Given the description of an element on the screen output the (x, y) to click on. 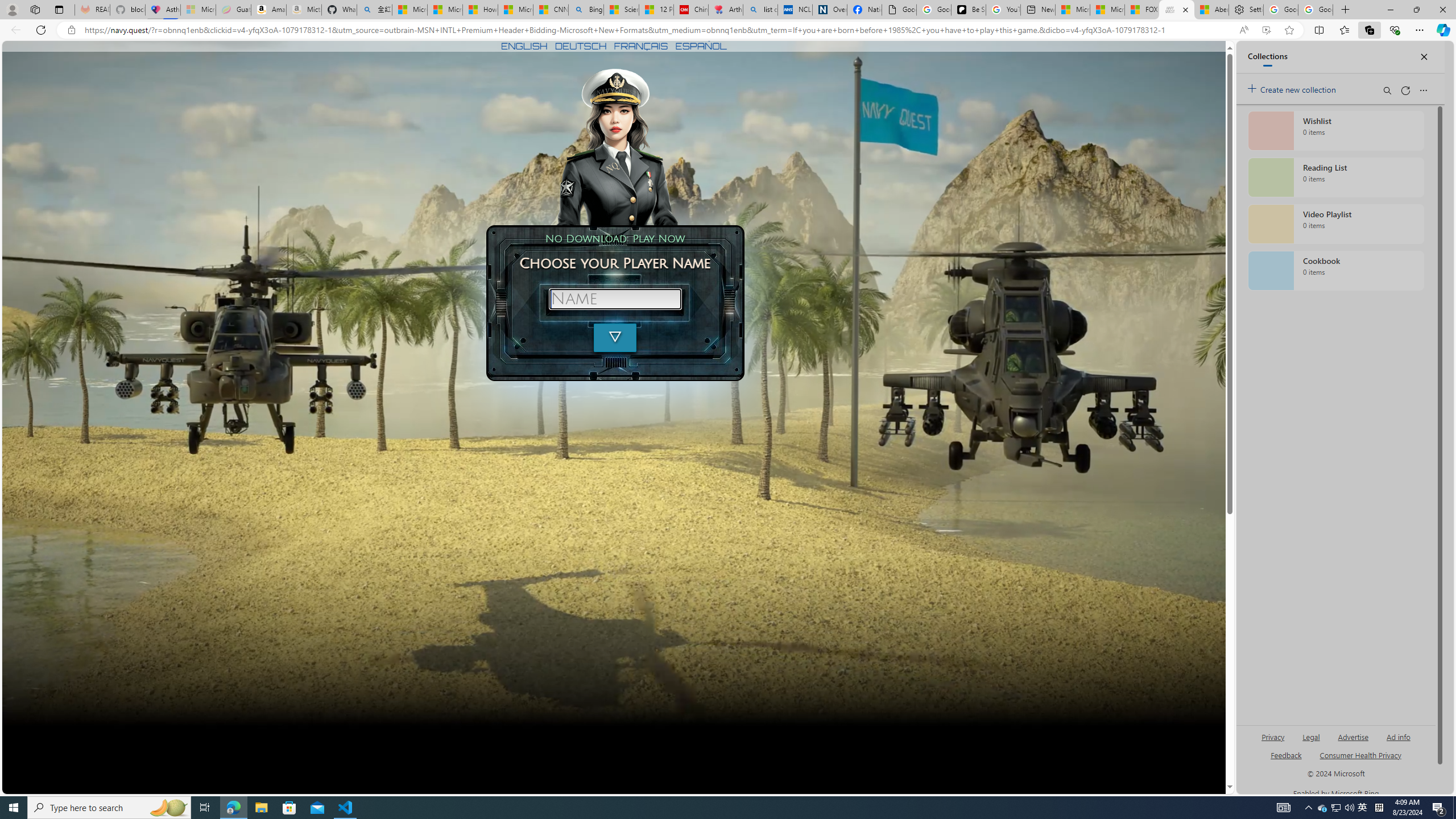
AutomationID: genId96 (1285, 759)
Asthma Inhalers: Names and Types (161, 9)
Arthritis: Ask Health Professionals (725, 9)
Google Analytics Opt-out Browser Add-on Download Page (898, 9)
CNN - MSN (550, 9)
list of asthma inhalers uk - Search (760, 9)
